Given the description of an element on the screen output the (x, y) to click on. 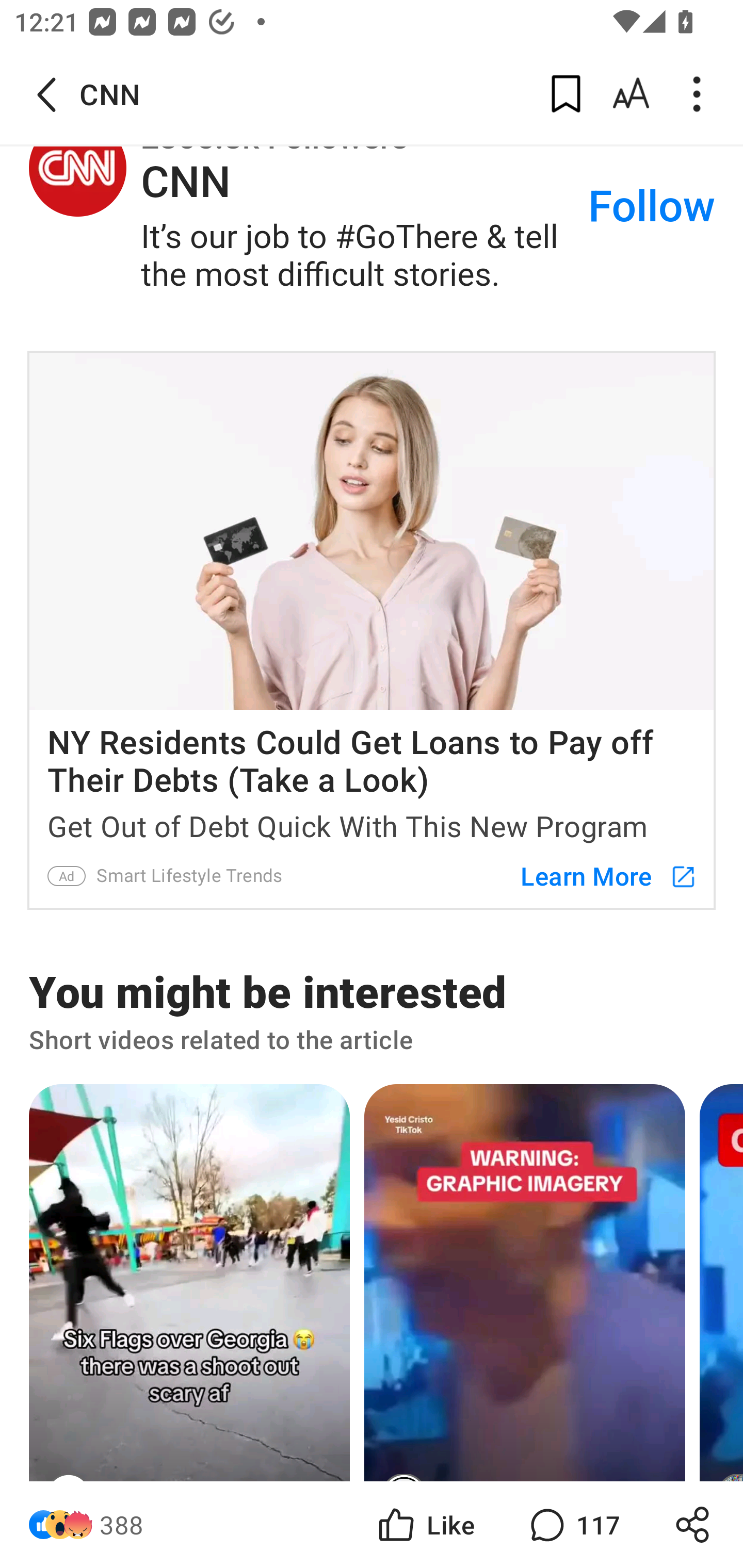
CNN (77, 168)
Follow (651, 206)
Get Out of Debt Quick With This New Program (371, 822)
Learn More (598, 875)
Smart Lifestyle Trends (189, 875)
388 (121, 1524)
Like (425, 1524)
117 (572, 1524)
